Given the description of an element on the screen output the (x, y) to click on. 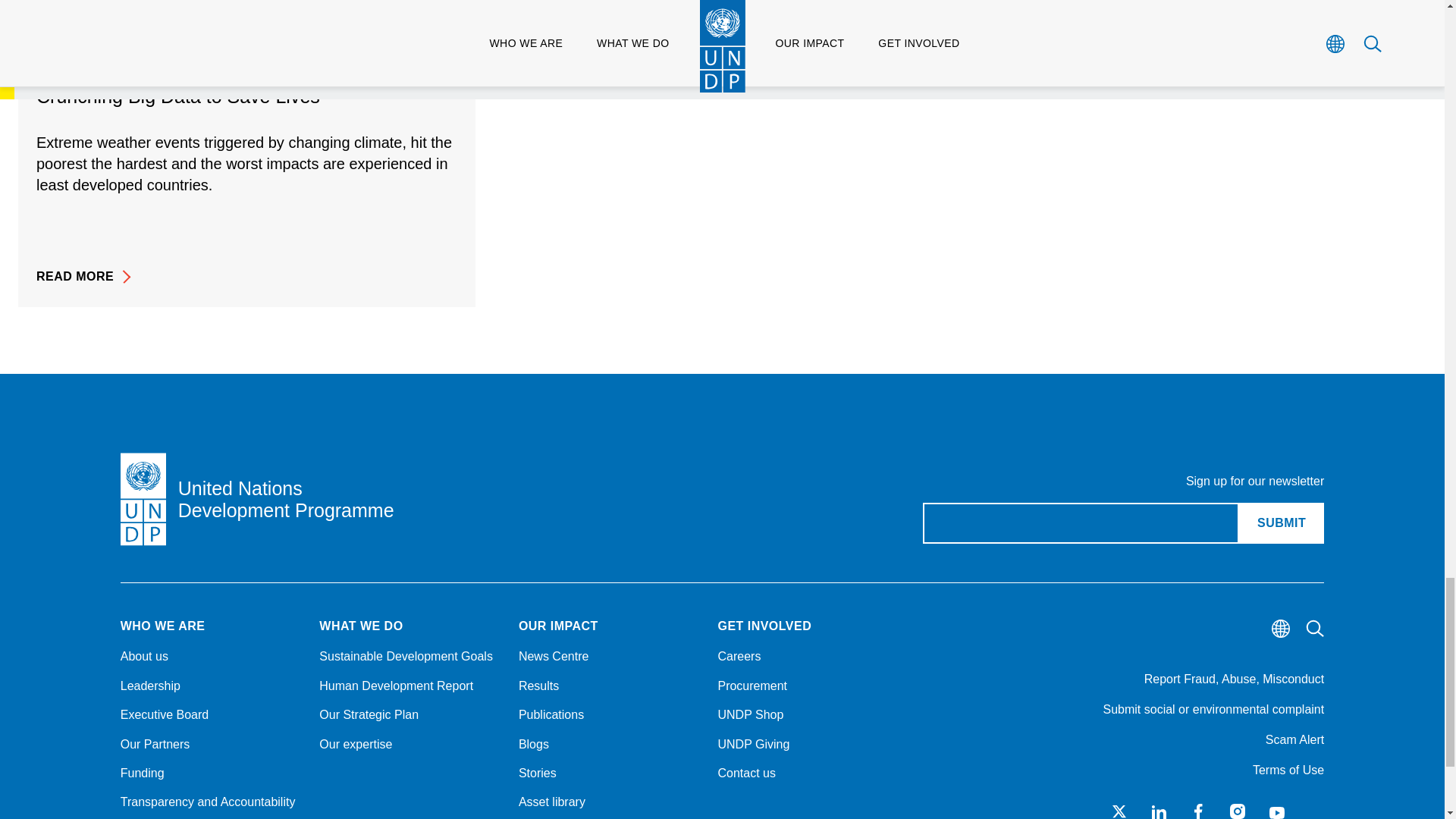
Submit (1281, 522)
Linkedin (1158, 811)
Facebook (1198, 811)
X (1119, 811)
YouTube (1276, 811)
Instagram (1237, 811)
